Given the description of an element on the screen output the (x, y) to click on. 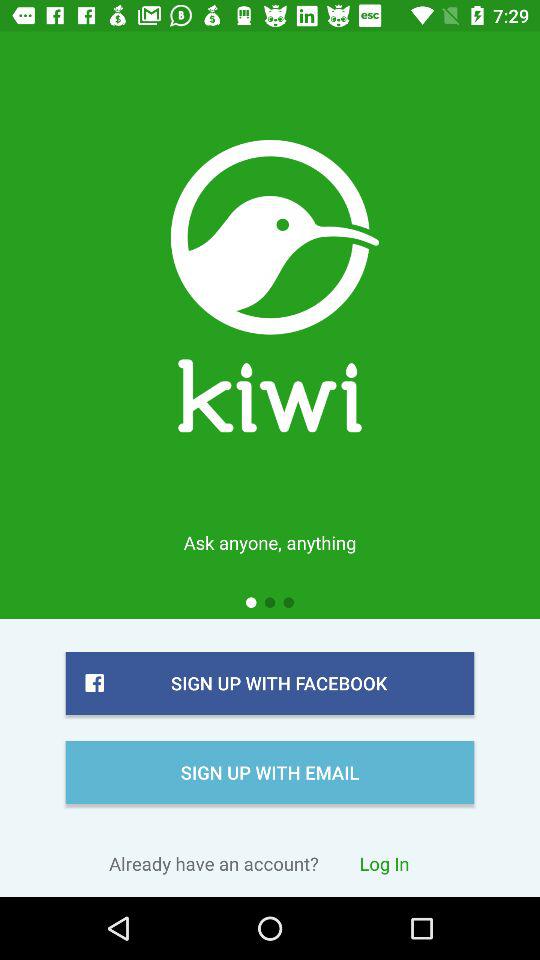
press the item to the right of already have an (384, 863)
